Given the description of an element on the screen output the (x, y) to click on. 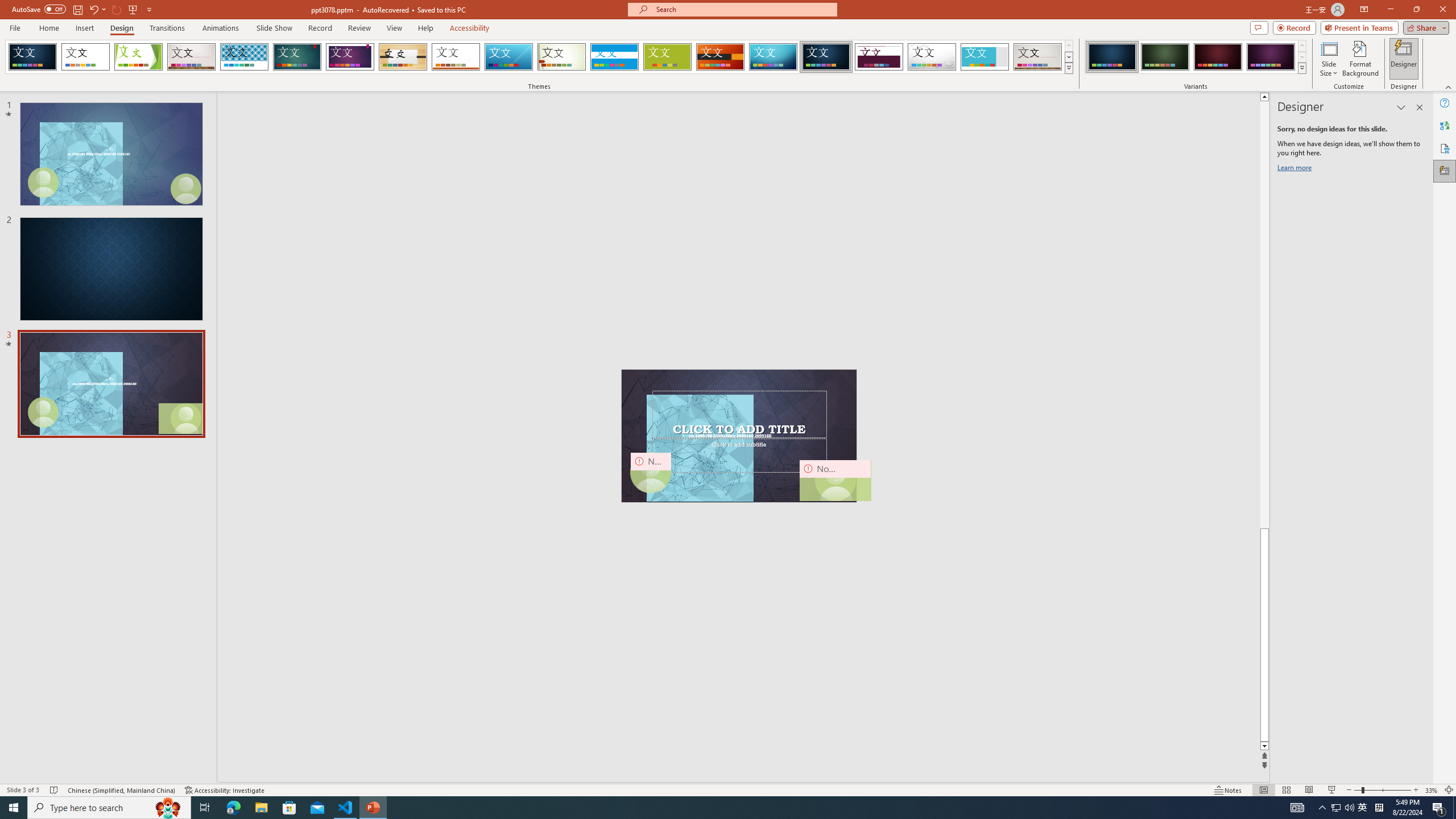
AutomationID: SlideThemesGallery (539, 56)
Damask (826, 56)
Slide Size (1328, 58)
Droplet (931, 56)
